Given the description of an element on the screen output the (x, y) to click on. 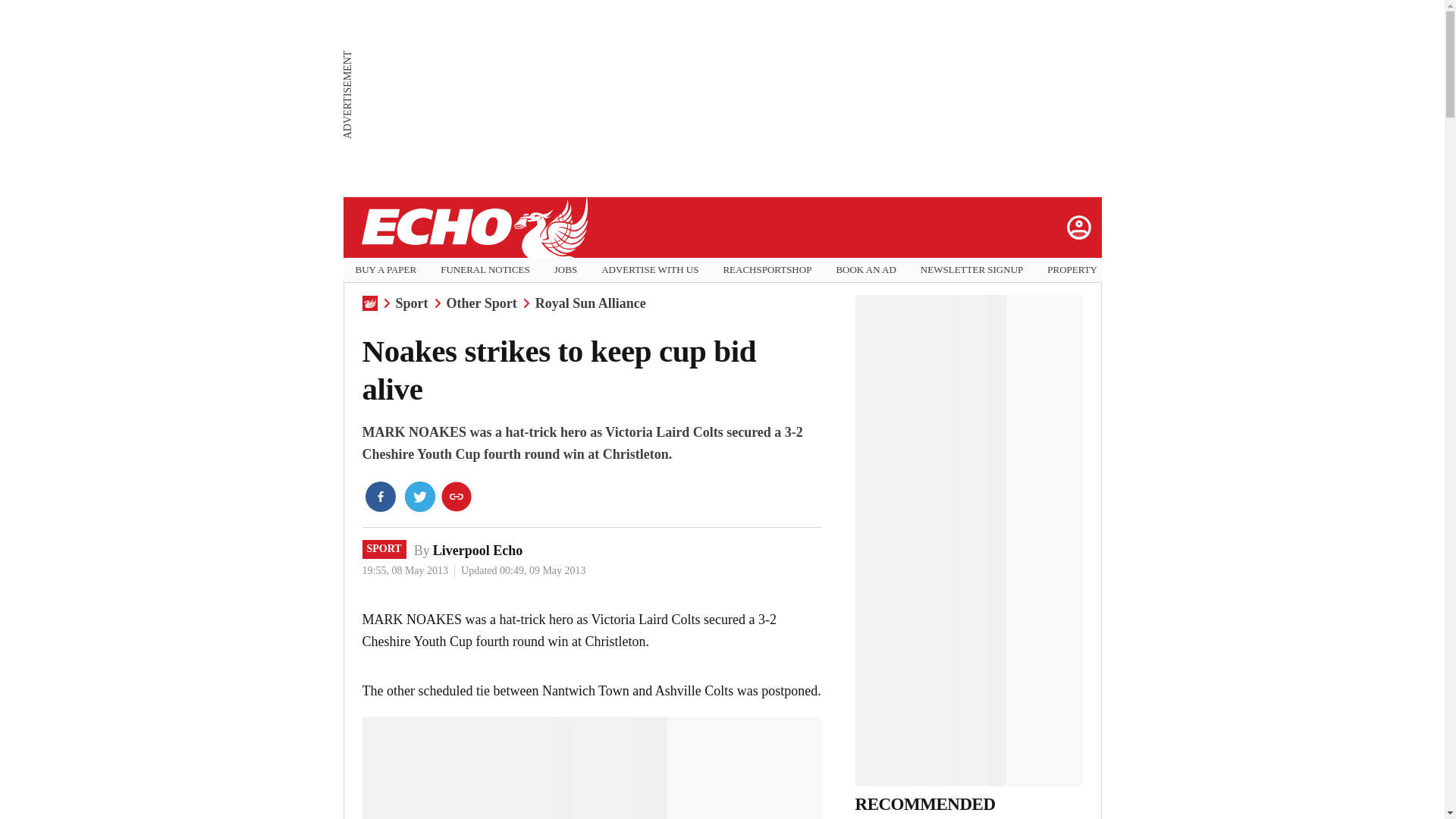
SPORT (384, 548)
NEWSLETTER SIGNUP (971, 270)
FUNERAL NOTICES (485, 270)
ADVERTISE WITH US (649, 270)
Go to the Liverpool Echo homepage (473, 227)
BOOK AN AD (865, 270)
BUY A PAPER (385, 270)
PROPERTY (1071, 270)
copy link (456, 496)
REACHSPORTSHOP (766, 270)
Royal Sun Alliance (590, 303)
Sport (412, 303)
avatar (1077, 227)
Other Sport (481, 303)
JOBS (565, 270)
